Given the description of an element on the screen output the (x, y) to click on. 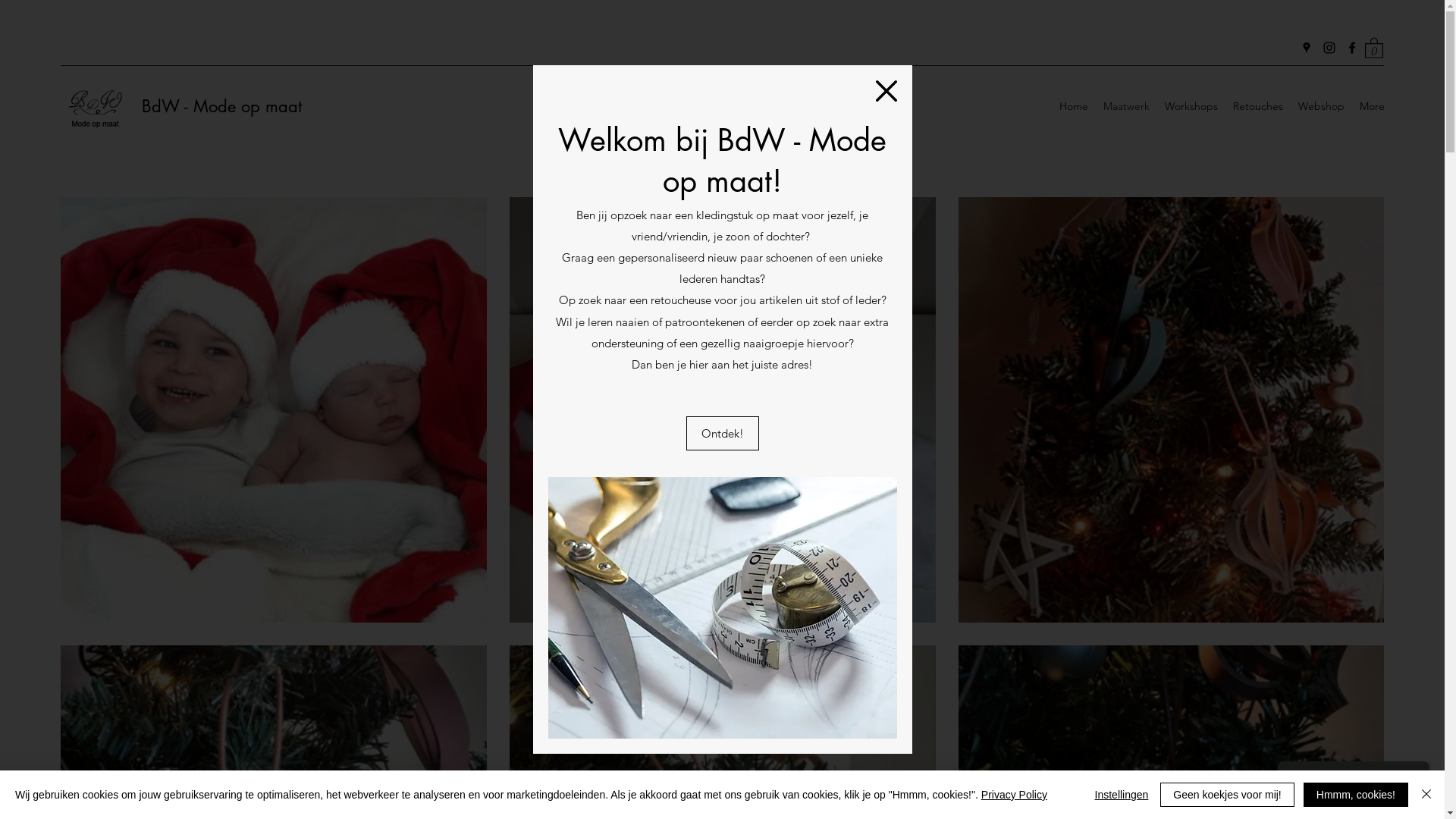
Hmmm, cookies! Element type: text (1355, 794)
Home Element type: text (1073, 105)
Ontdek! Element type: text (721, 433)
BdW - Mode op maat Element type: text (221, 105)
0 Element type: text (1374, 47)
Retouches Element type: text (1257, 105)
Webshop Element type: text (1321, 105)
Maatwerk Element type: text (1126, 105)
Workshops Element type: text (1191, 105)
Geen koekjes voor mij! Element type: text (1226, 794)
Privacy Policy Element type: text (1014, 794)
Terug naar de website Element type: hover (885, 90)
